Given the description of an element on the screen output the (x, y) to click on. 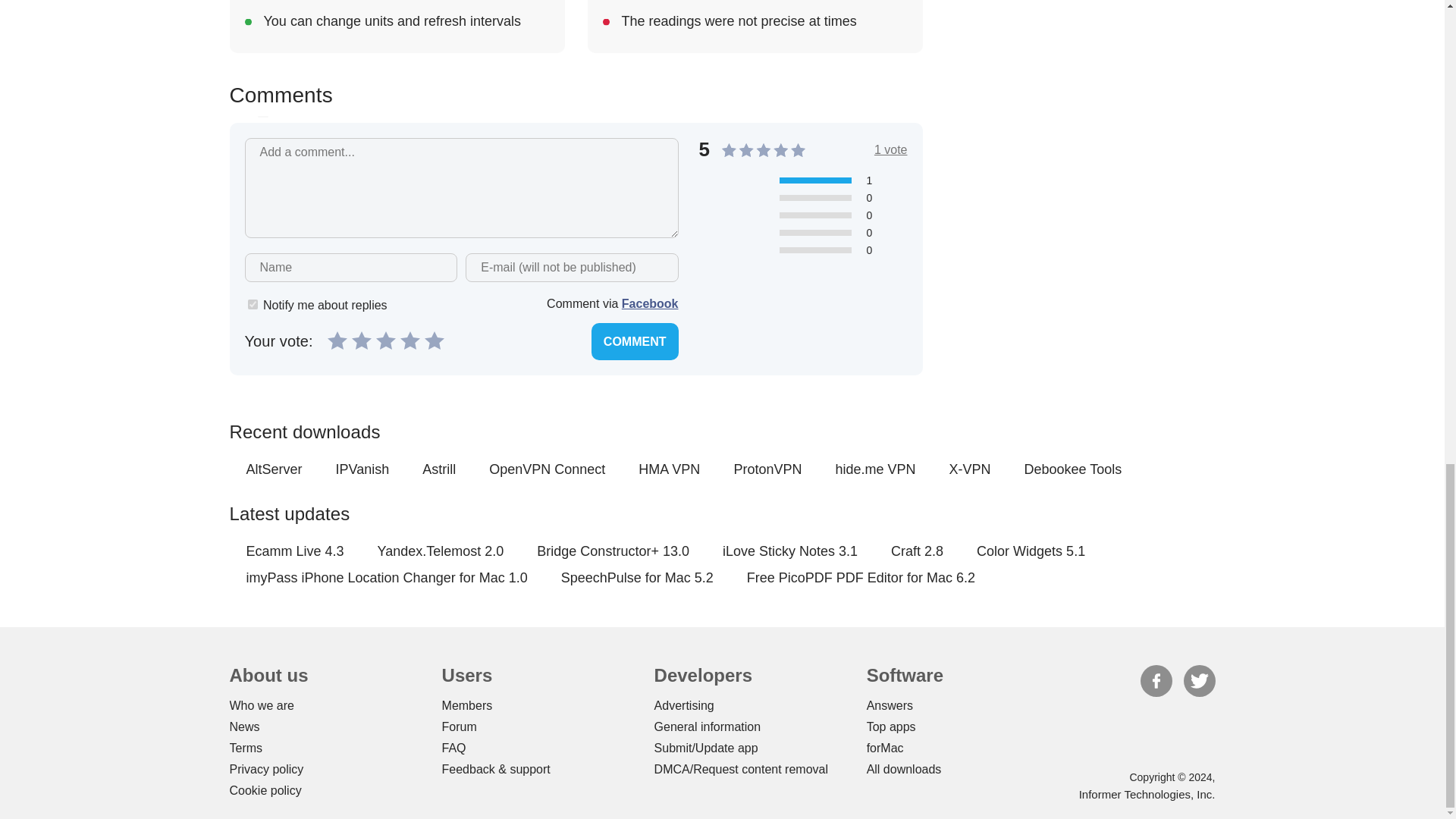
2 (361, 339)
Comment (634, 341)
1 (336, 339)
1 (252, 304)
5 (434, 339)
4 (409, 339)
3 (385, 339)
